Given the description of an element on the screen output the (x, y) to click on. 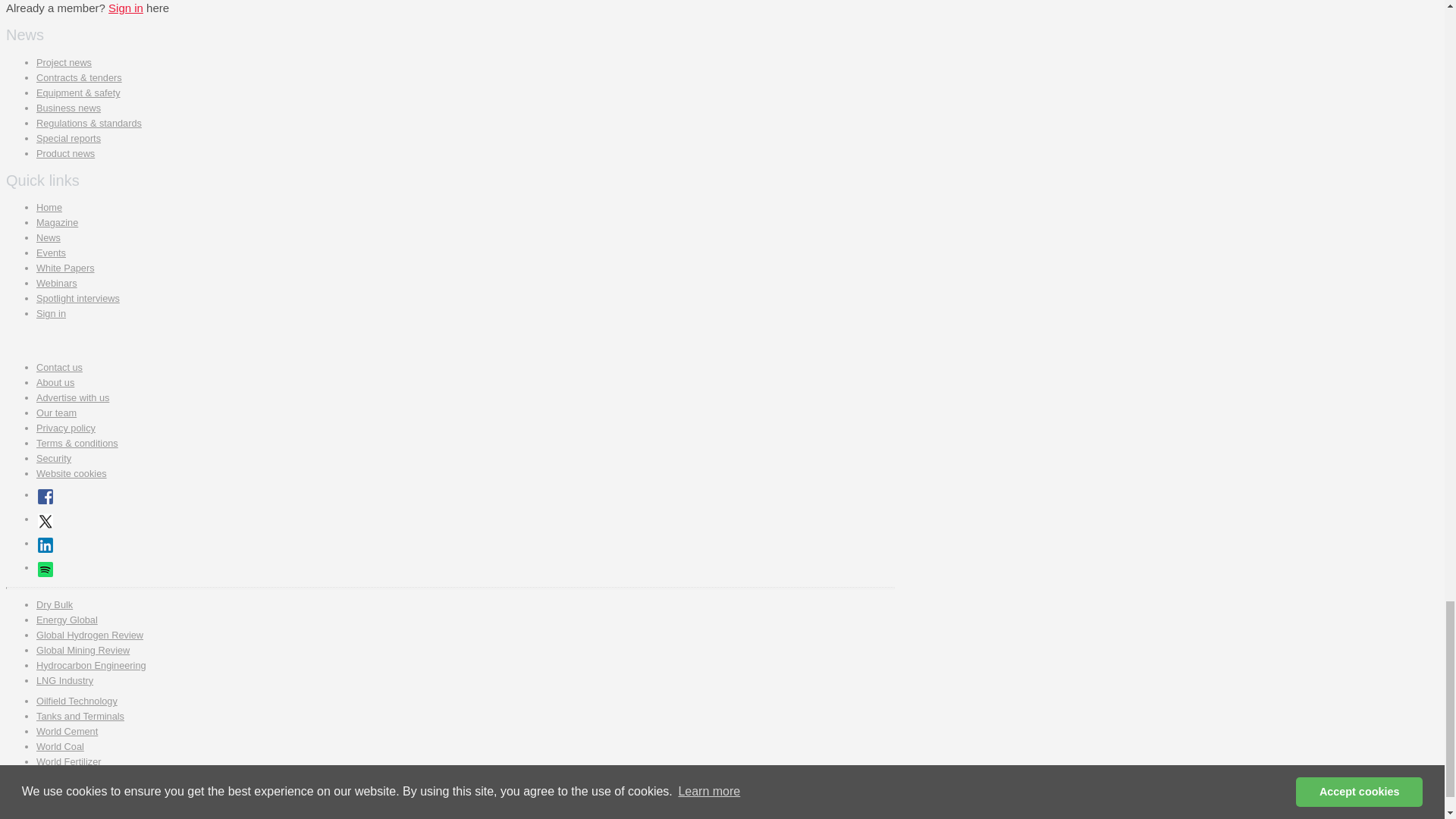
Sign in (124, 7)
Project news (63, 61)
